Given the description of an element on the screen output the (x, y) to click on. 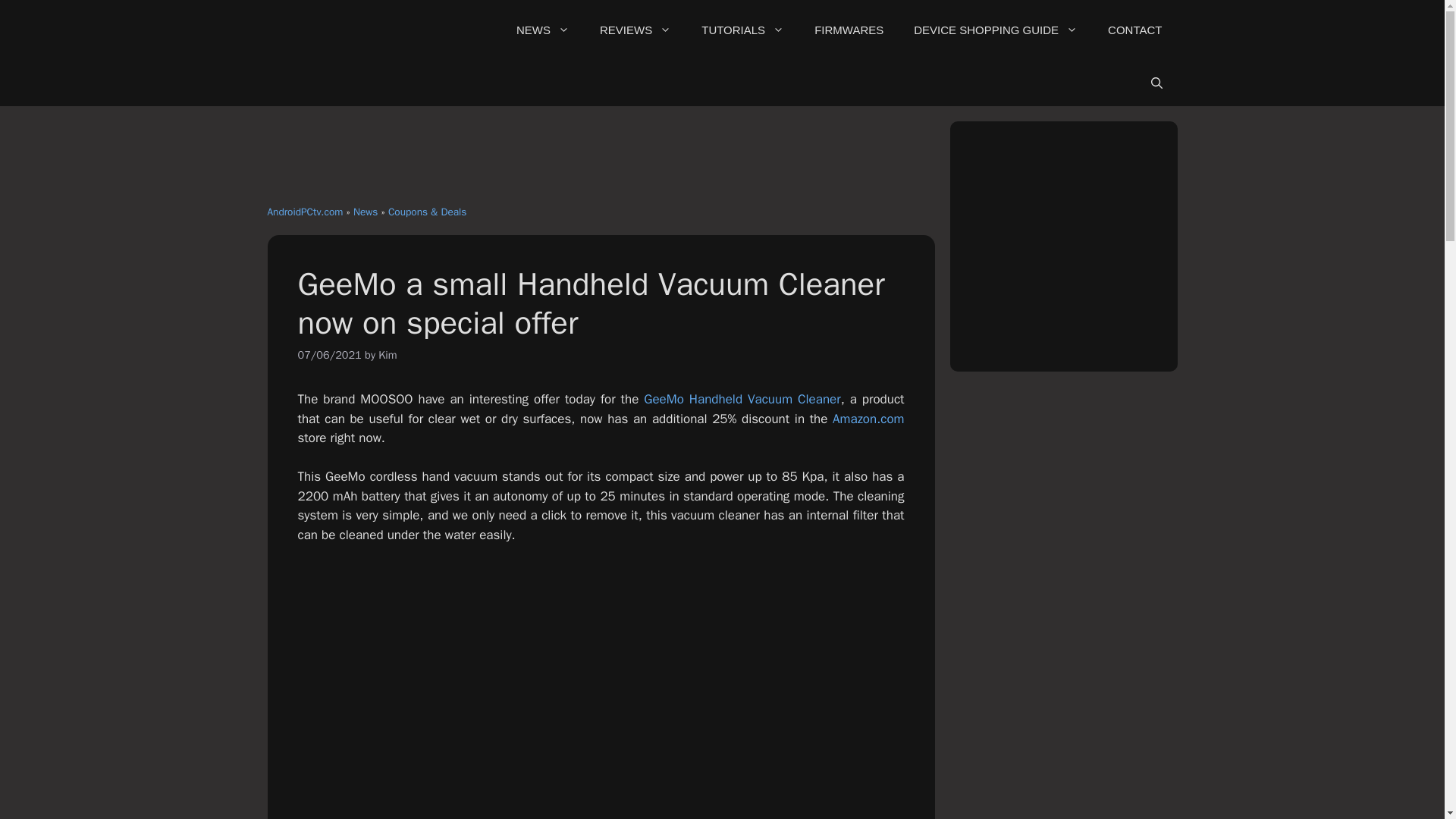
View all posts by Kim (387, 354)
AndroidPCtv (380, 30)
